Given the description of an element on the screen output the (x, y) to click on. 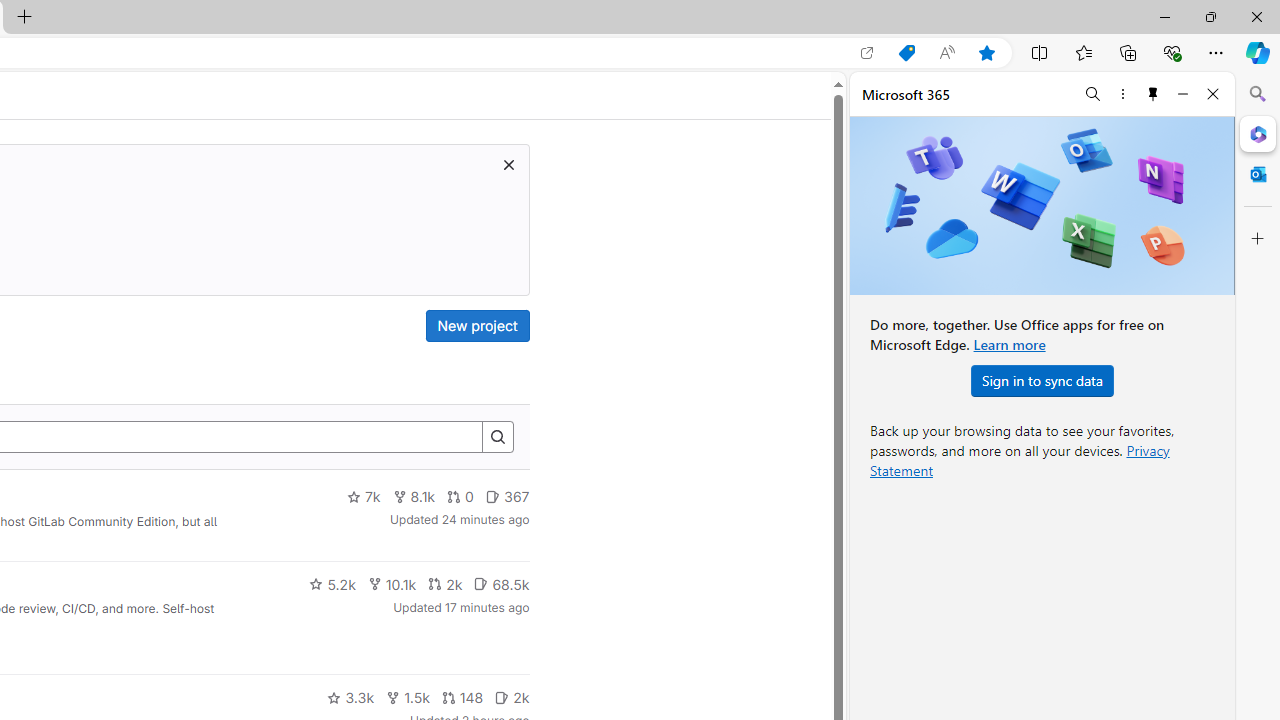
2k (512, 697)
8.1k (413, 497)
10.1k (392, 583)
Open in app (867, 53)
1.5k (408, 697)
Privacy Statement (1019, 460)
5.2k (331, 583)
Sign in to sync data (1042, 380)
